Given the description of an element on the screen output the (x, y) to click on. 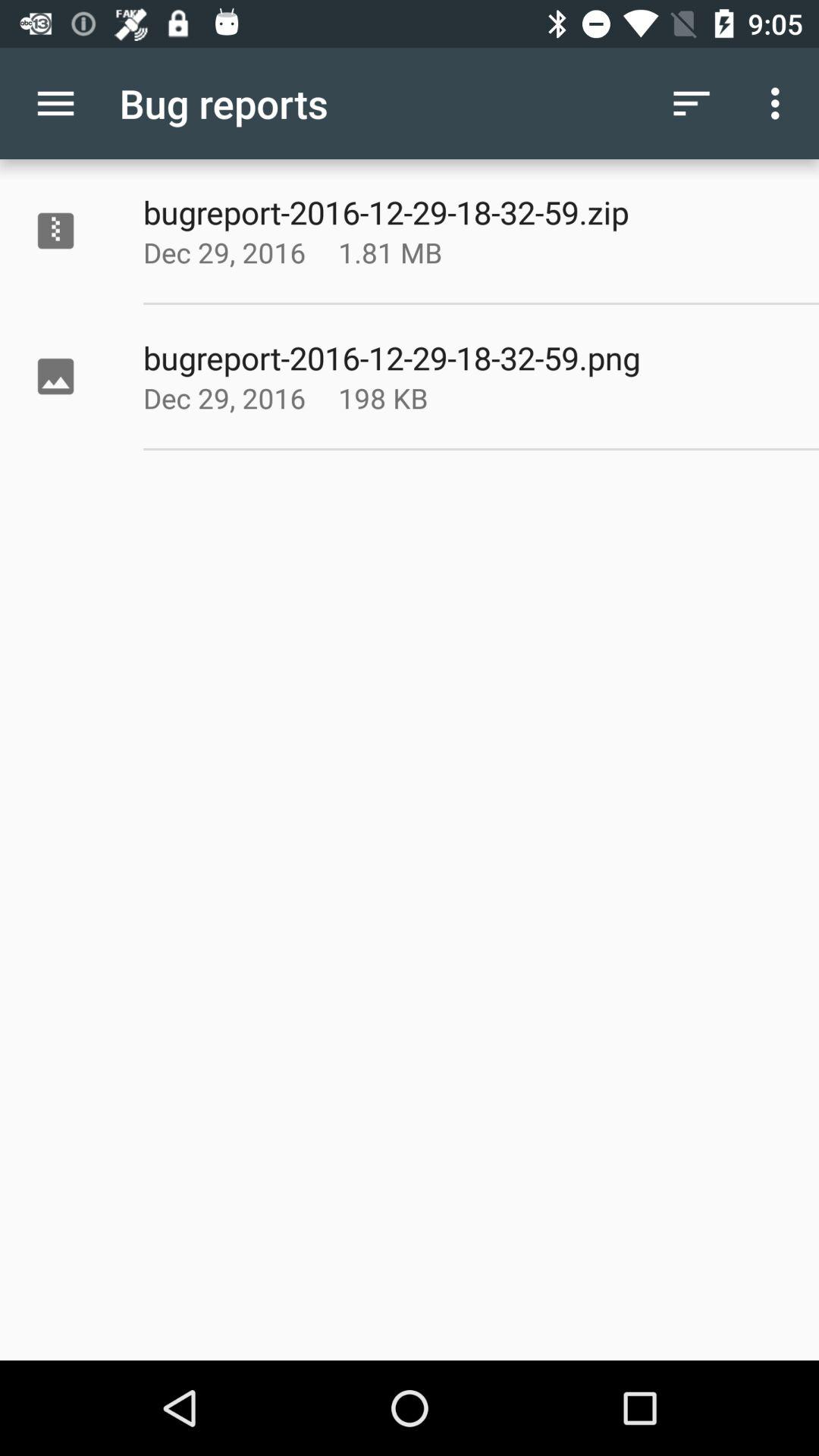
swipe until the 198 kb icon (427, 397)
